Given the description of an element on the screen output the (x, y) to click on. 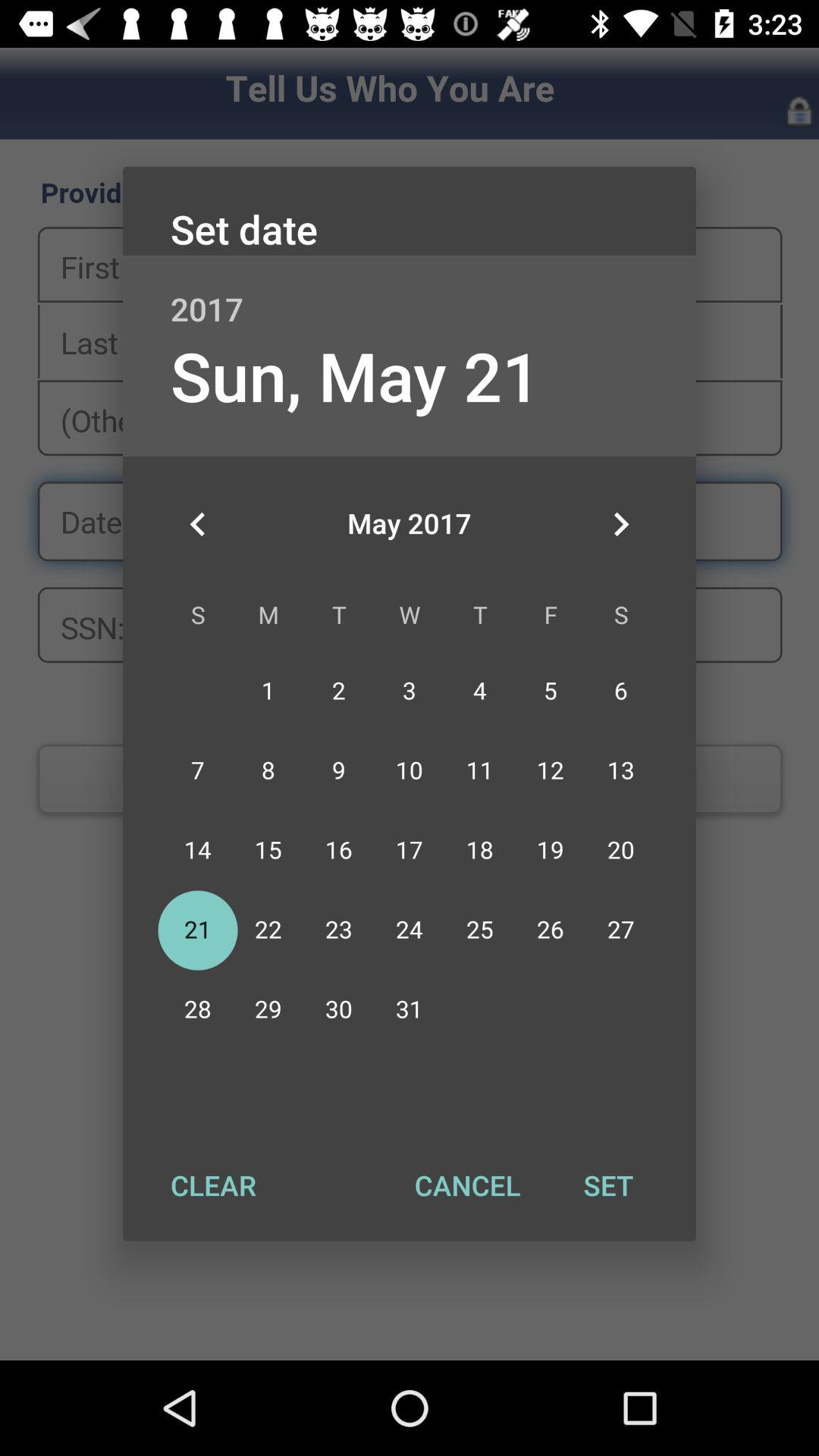
turn off the icon next to cancel item (213, 1185)
